Given the description of an element on the screen output the (x, y) to click on. 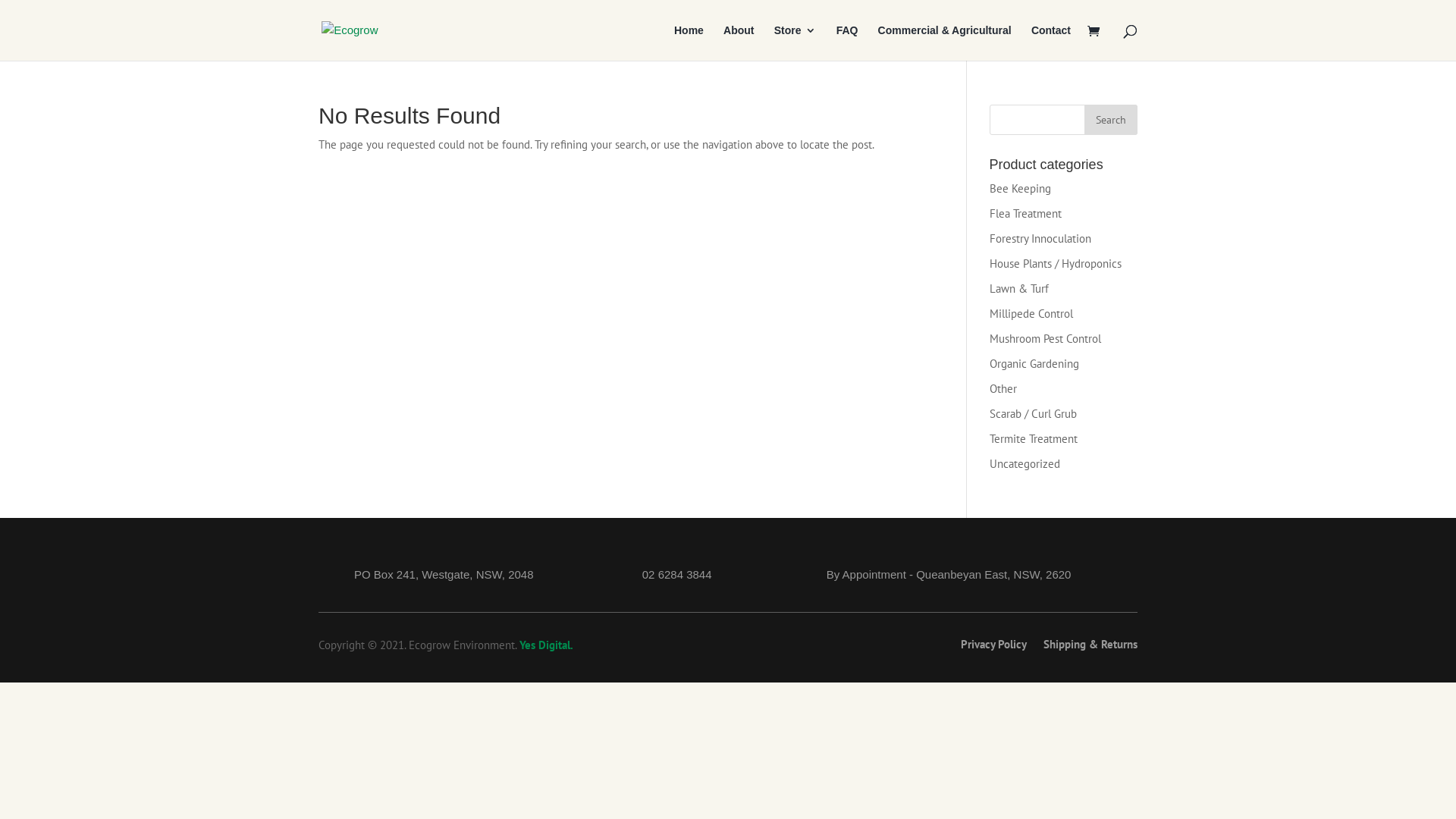
About Element type: text (738, 42)
Millipede Control Element type: text (1031, 313)
FAQ Element type: text (847, 42)
Forestry Innoculation Element type: text (1040, 238)
Organic Gardening Element type: text (1034, 363)
Flea Treatment Element type: text (1025, 213)
Uncategorized Element type: text (1024, 463)
Store Element type: text (795, 42)
Other Element type: text (1002, 388)
Lawn & Turf Element type: text (1018, 288)
House Plants / Hydroponics Element type: text (1055, 263)
Search Element type: text (1110, 119)
Mushroom Pest Control Element type: text (1045, 338)
Termite Treatment Element type: text (1033, 438)
Commercial & Agricultural Element type: text (944, 42)
Privacy Policy Element type: text (993, 647)
Contact Element type: text (1050, 42)
Yes Digital. Element type: text (546, 644)
Shipping & Returns Element type: text (1090, 647)
Home Element type: text (688, 42)
Scarab / Curl Grub Element type: text (1032, 413)
Bee Keeping Element type: text (1020, 188)
